Given the description of an element on the screen output the (x, y) to click on. 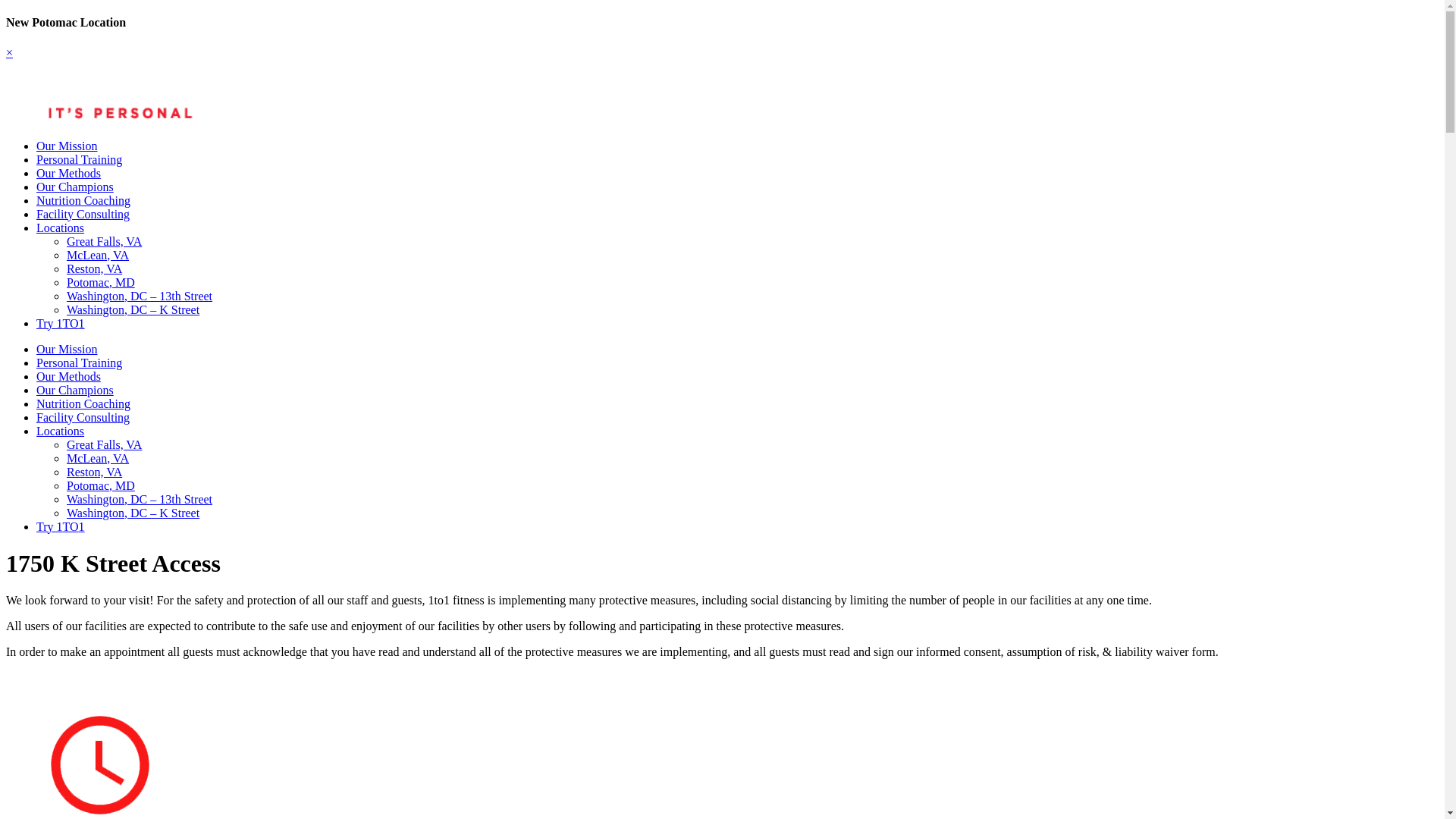
Try 1TO1 Element type: text (60, 322)
McLean, VA Element type: text (97, 457)
Nutrition Coaching Element type: text (83, 403)
Potomac, MD Element type: text (100, 485)
Try 1TO1 Element type: text (60, 526)
Great Falls, VA Element type: text (103, 241)
Personal Training Element type: text (79, 159)
Our Methods Element type: text (68, 376)
Reston, VA Element type: text (94, 268)
Great Falls, VA Element type: text (103, 444)
Our Champions Element type: text (74, 389)
Locations Element type: text (60, 227)
Reston, VA Element type: text (94, 471)
Personal Training Element type: text (79, 362)
Our Mission Element type: text (66, 348)
Facility Consulting Element type: text (82, 417)
Our Champions Element type: text (74, 186)
Locations Element type: text (60, 430)
Facility Consulting Element type: text (82, 213)
Skip to content Element type: text (5, 15)
Our Methods Element type: text (68, 172)
Potomac, MD Element type: text (100, 282)
Our Mission Element type: text (66, 145)
McLean, VA Element type: text (97, 254)
Nutrition Coaching Element type: text (83, 200)
